Given the description of an element on the screen output the (x, y) to click on. 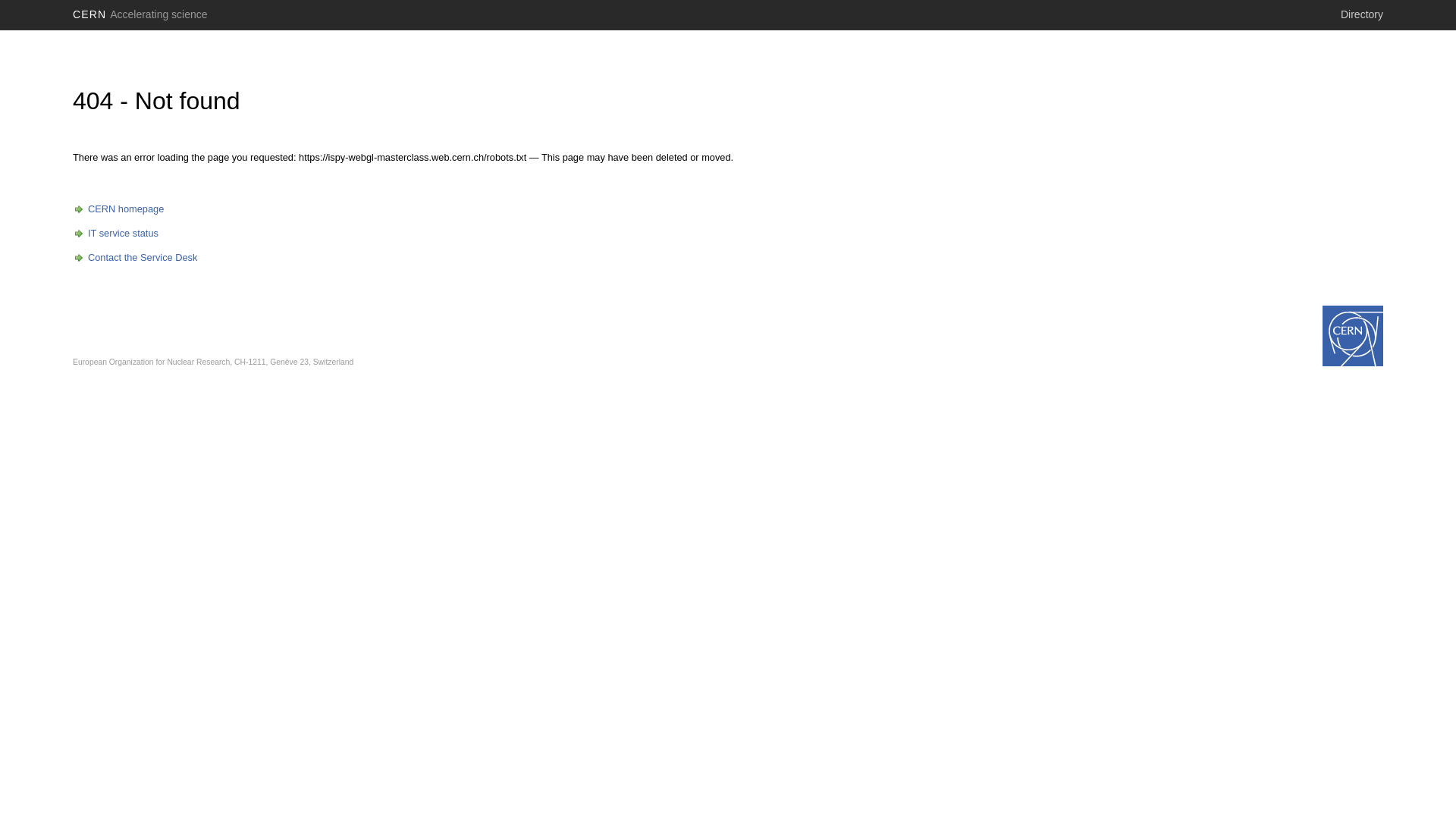
www.cern.ch Element type: hover (1352, 335)
Directory Element type: text (1361, 14)
IT service status Element type: text (115, 232)
CERN Accelerating science Element type: text (139, 14)
CERN homepage Element type: text (117, 208)
Contact the Service Desk Element type: text (134, 257)
